Given the description of an element on the screen output the (x, y) to click on. 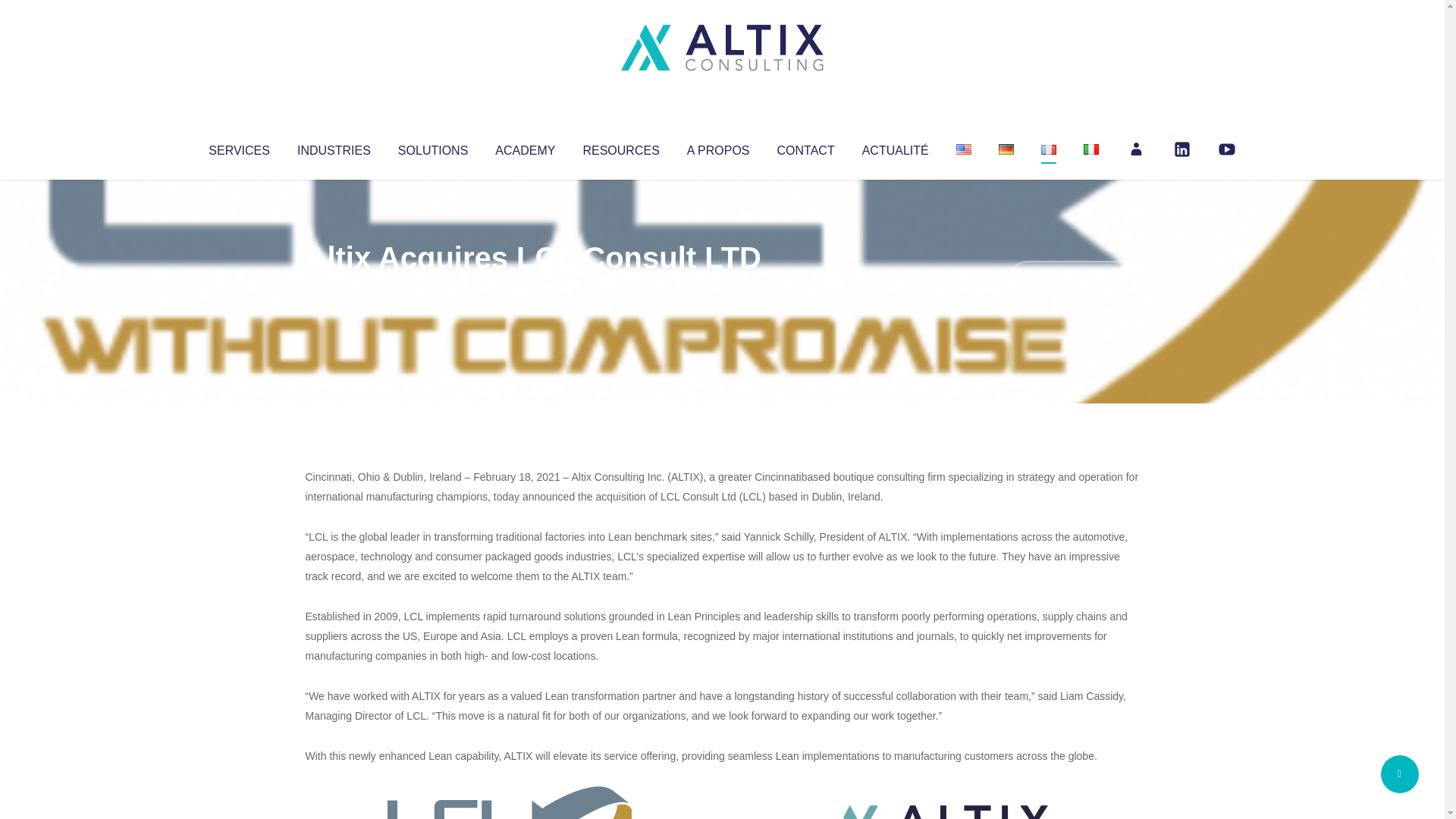
RESOURCES (620, 146)
Uncategorized (530, 287)
Articles par Altix (333, 287)
SOLUTIONS (432, 146)
Altix (333, 287)
SERVICES (238, 146)
No Comments (1073, 278)
ACADEMY (524, 146)
A PROPOS (718, 146)
INDUSTRIES (334, 146)
